Given the description of an element on the screen output the (x, y) to click on. 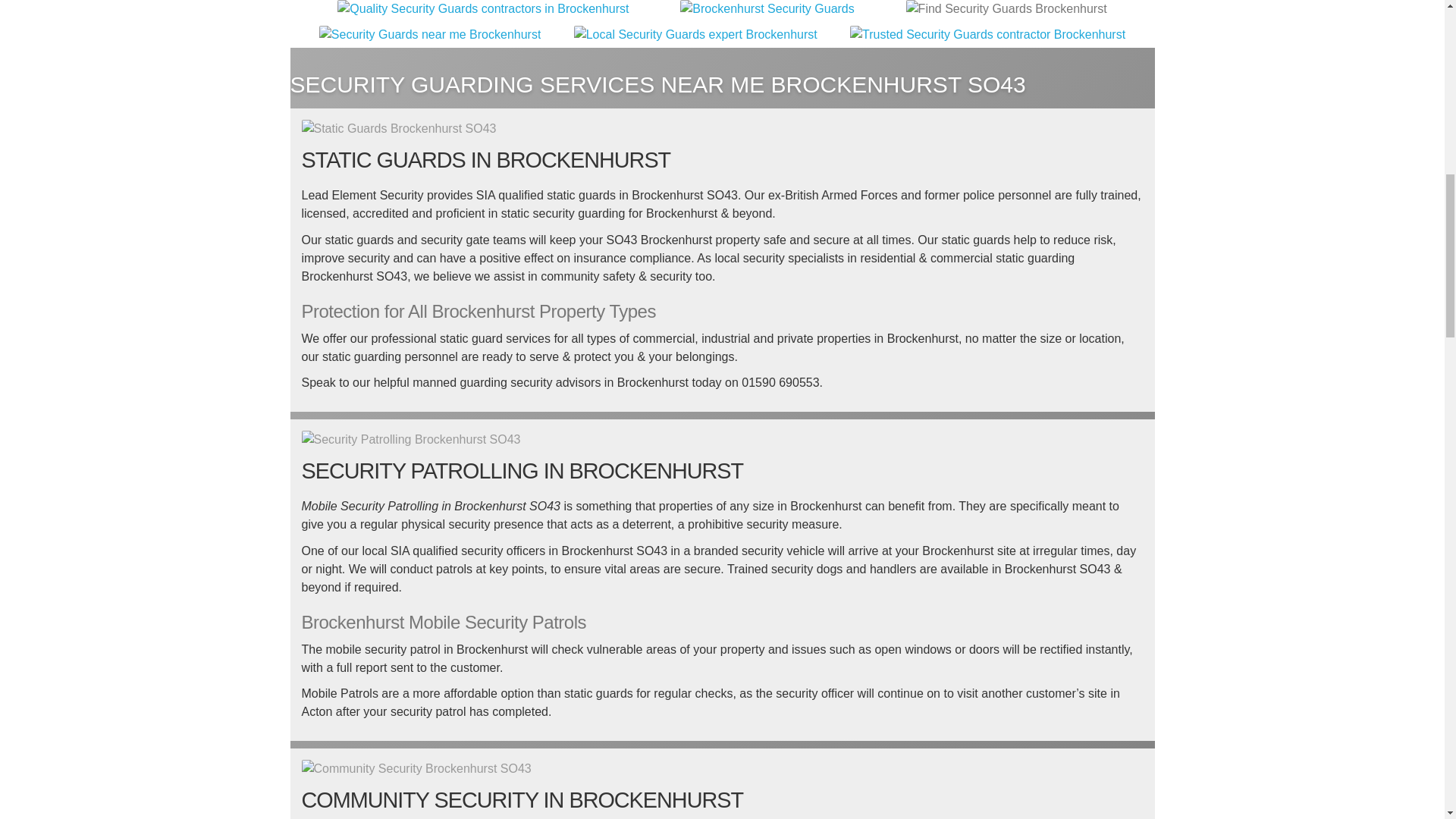
Mobile Patrol Security Company Brockenhurst (411, 439)
SIA Approved (482, 9)
GDPR (694, 34)
Supporting those who served (1005, 9)
Static Guards (398, 128)
ICO Registered Business (429, 34)
Community Residential Security Company Brockenhurst (416, 769)
CHAS Elite Accreditation (766, 9)
Leyton Orient Business Partner (987, 34)
